Given the description of an element on the screen output the (x, y) to click on. 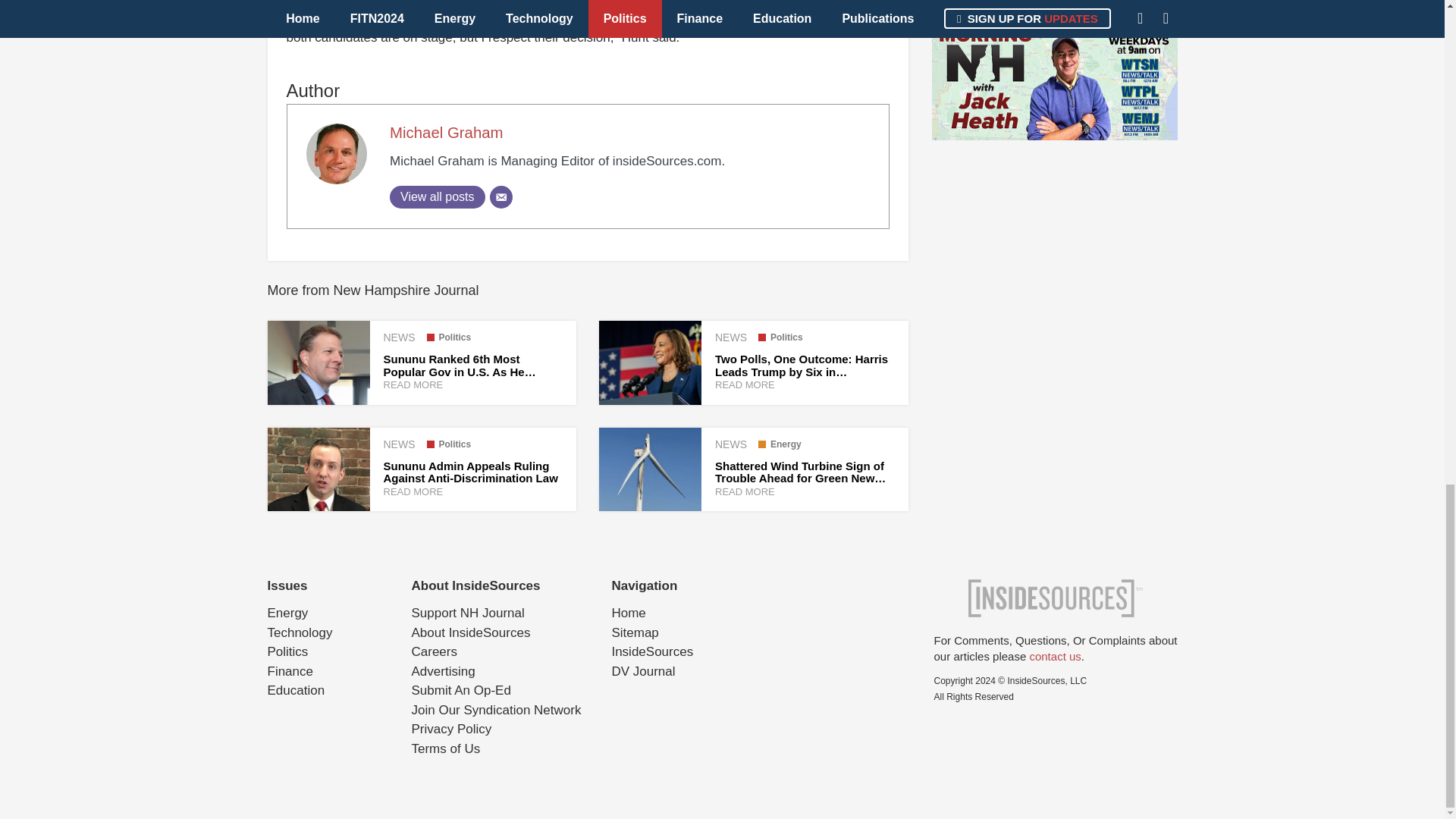
View all posts (437, 196)
Michael Graham (446, 132)
View all posts in Politics (780, 337)
View all posts (437, 196)
Michael Graham (446, 132)
View all posts in Politics (448, 337)
View all posts in Politics (448, 443)
View all posts in Energy (780, 443)
Politics (448, 337)
Politics (448, 443)
Politics (780, 337)
